Given the description of an element on the screen output the (x, y) to click on. 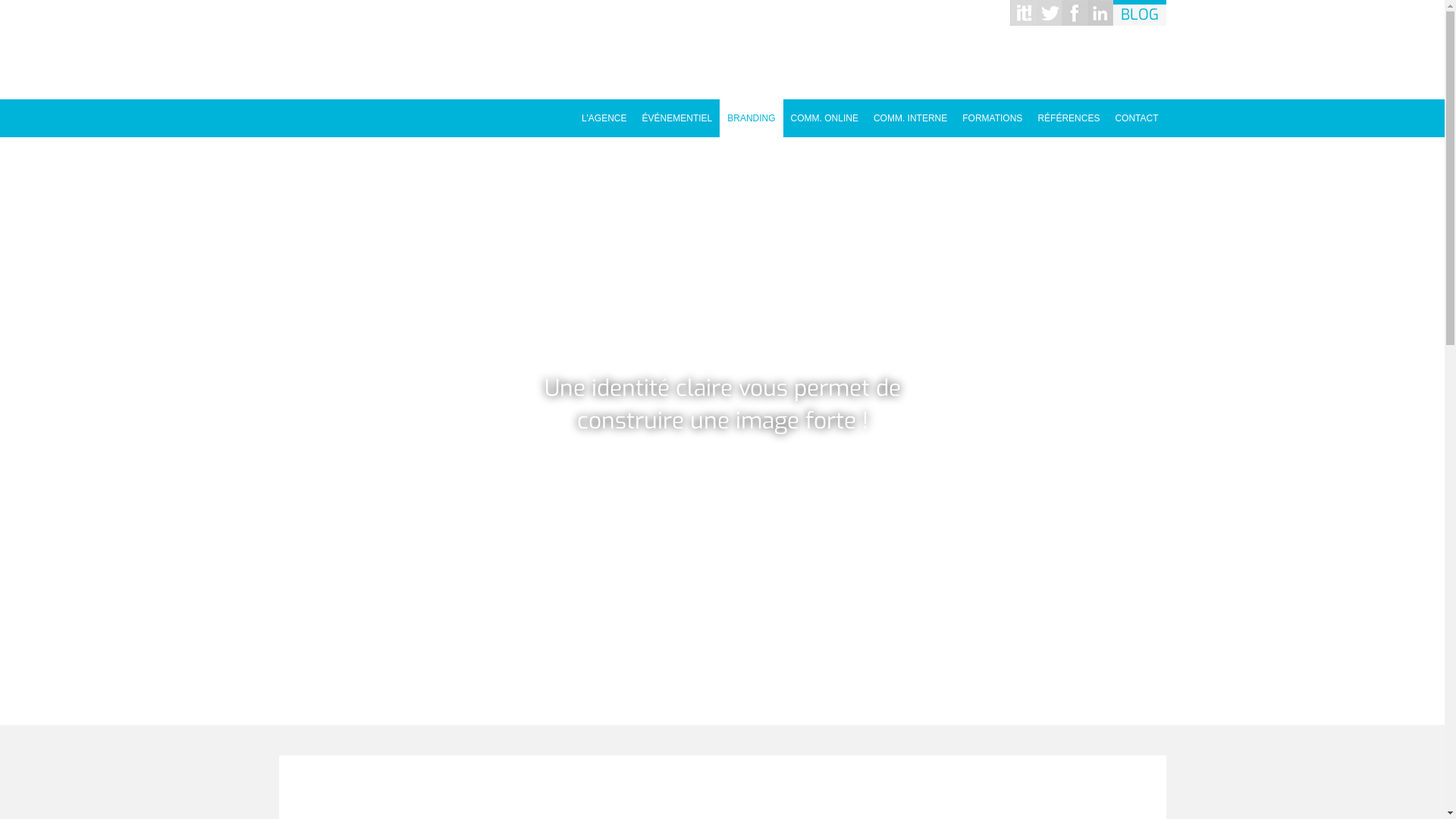
COMM. ONLINE Element type: text (824, 113)
Linkedin Element type: text (1100, 12)
BLOG Element type: text (1139, 12)
L'AGENCE Element type: text (604, 113)
FORMATIONS Element type: text (991, 113)
Twitter Element type: text (1048, 12)
BRANDING Element type: text (750, 113)
Facebook Element type: text (1074, 12)
Scoop it Element type: text (1022, 12)
COMM. INTERNE Element type: text (910, 113)
CONTACT Element type: text (1136, 113)
